Given the description of an element on the screen output the (x, y) to click on. 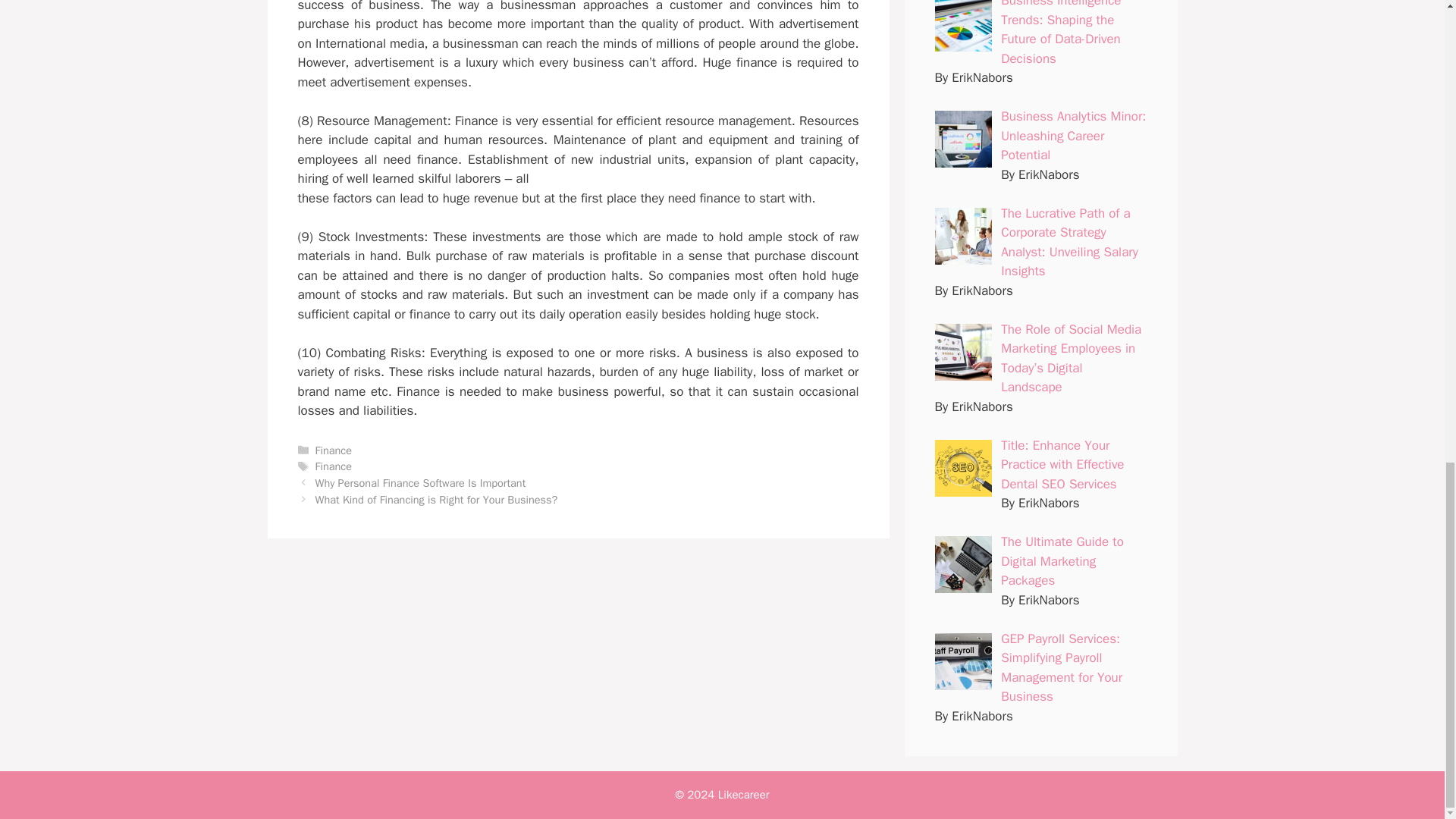
The Ultimate Guide to Digital Marketing Packages (1062, 560)
What Kind of Financing is Right for Your Business? (436, 499)
Finance (333, 466)
Why Personal Finance Software Is Important (420, 482)
Finance (333, 450)
Business Analytics Minor: Unleashing Career Potential (1073, 135)
